Given the description of an element on the screen output the (x, y) to click on. 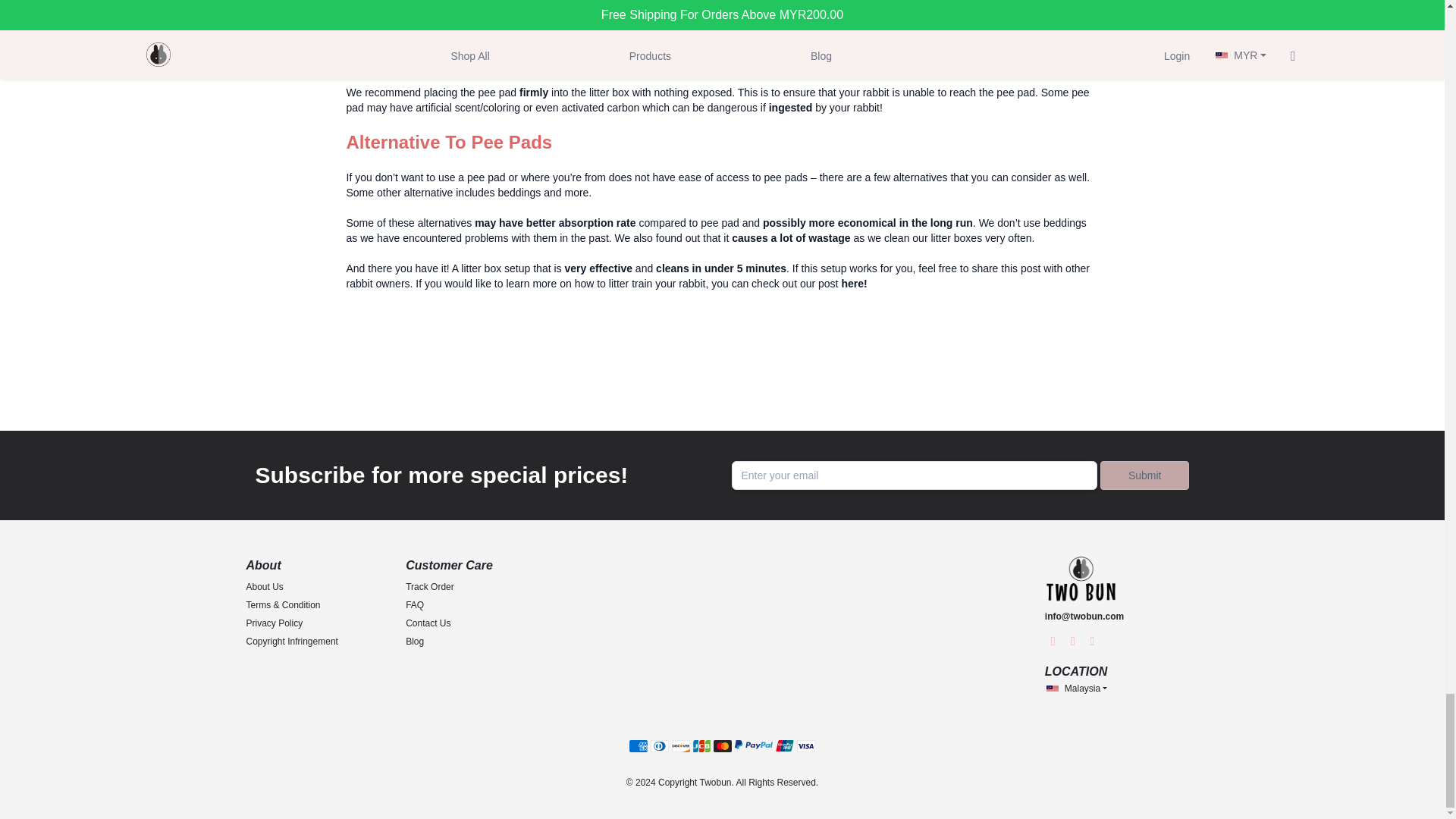
Blog (414, 641)
FAQ (414, 604)
Malaysia (1075, 688)
Track Order (430, 586)
About Us (264, 586)
Submit (1144, 475)
here (852, 283)
Contact Us (427, 623)
Copyright Infringement (291, 641)
Privacy Policy (274, 623)
